Given the description of an element on the screen output the (x, y) to click on. 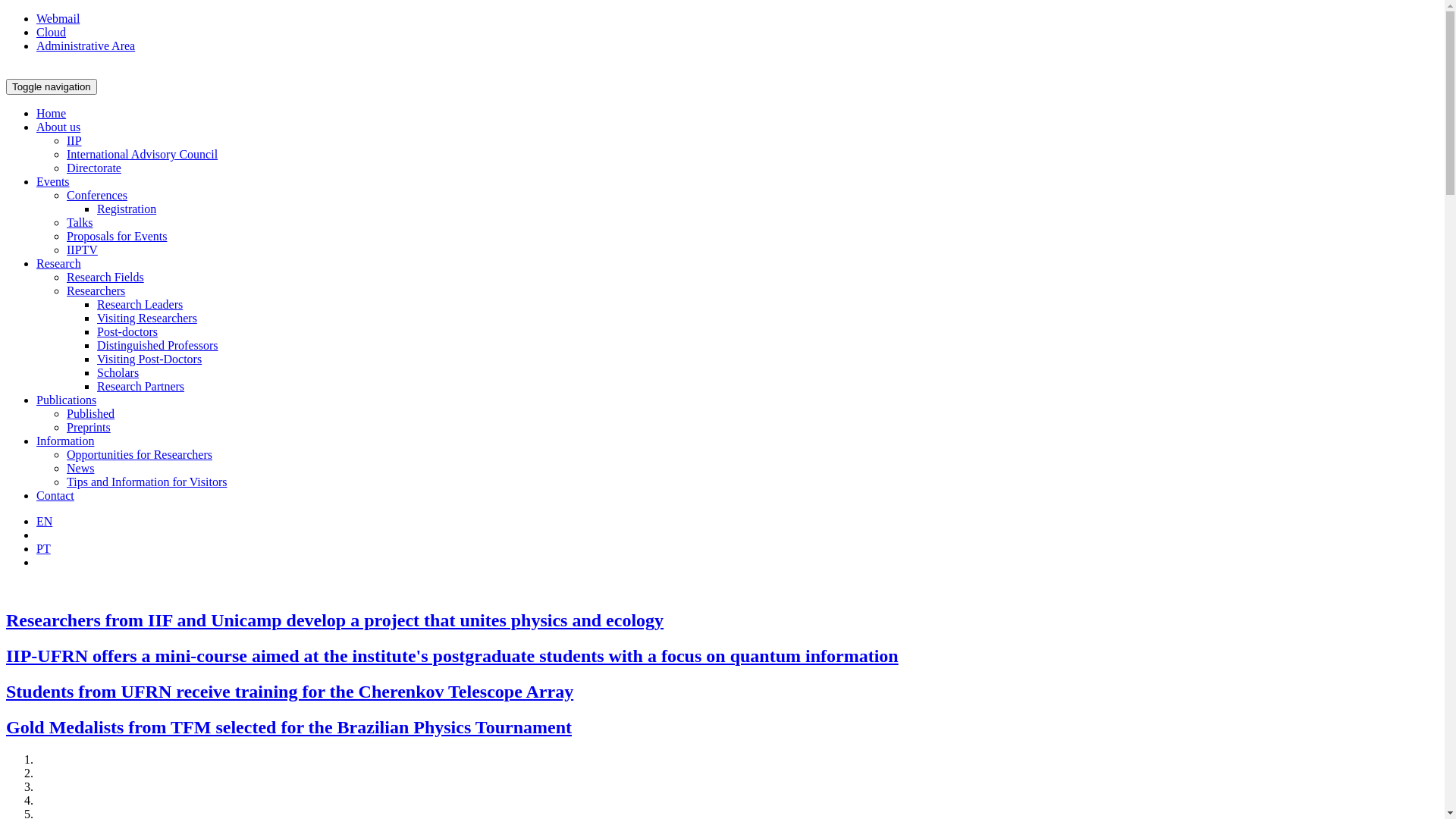
Research Leaders Element type: text (139, 304)
Tips and Information for Visitors Element type: text (146, 481)
Webmail Element type: text (57, 18)
Proposals for Events Element type: text (116, 235)
PT Element type: text (43, 548)
Distinguished Professors Element type: text (157, 344)
Home Element type: text (50, 112)
Contact Element type: text (55, 495)
International Advisory Council Element type: text (141, 153)
Talks Element type: text (79, 222)
Events Element type: text (52, 181)
Information Element type: text (65, 440)
Administrative Area Element type: text (85, 45)
Visiting Post-Doctors Element type: text (149, 358)
IIP Element type: text (73, 140)
Scholars Element type: text (117, 372)
Registration Element type: text (126, 208)
Research Partners Element type: text (140, 385)
Publications Element type: text (66, 399)
News Element type: text (80, 467)
Visiting Researchers Element type: text (147, 317)
IIPTV Element type: text (81, 249)
EN Element type: text (44, 520)
Published Element type: text (90, 413)
Research Fields Element type: text (105, 276)
Preprints Element type: text (88, 426)
Post-doctors Element type: text (127, 331)
Opportunities for Researchers Element type: text (139, 454)
About us Element type: text (58, 126)
Cloud Element type: text (50, 31)
Directorate Element type: text (93, 167)
Conferences Element type: text (96, 194)
Research Element type: text (58, 263)
Toggle navigation Element type: text (51, 86)
Researchers Element type: text (95, 290)
